Given the description of an element on the screen output the (x, y) to click on. 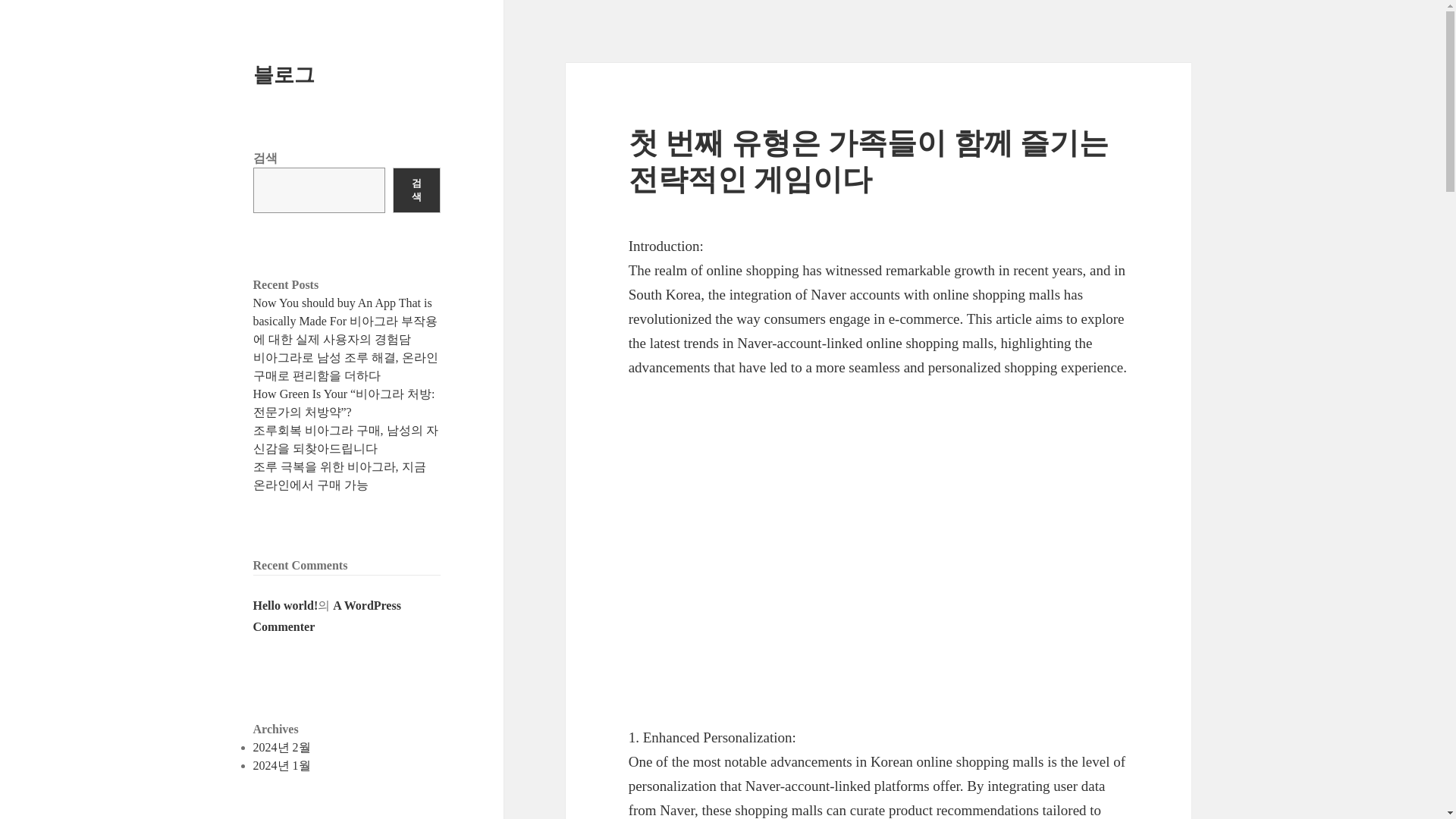
Hello world! (285, 604)
A WordPress Commenter (327, 615)
